Given the description of an element on the screen output the (x, y) to click on. 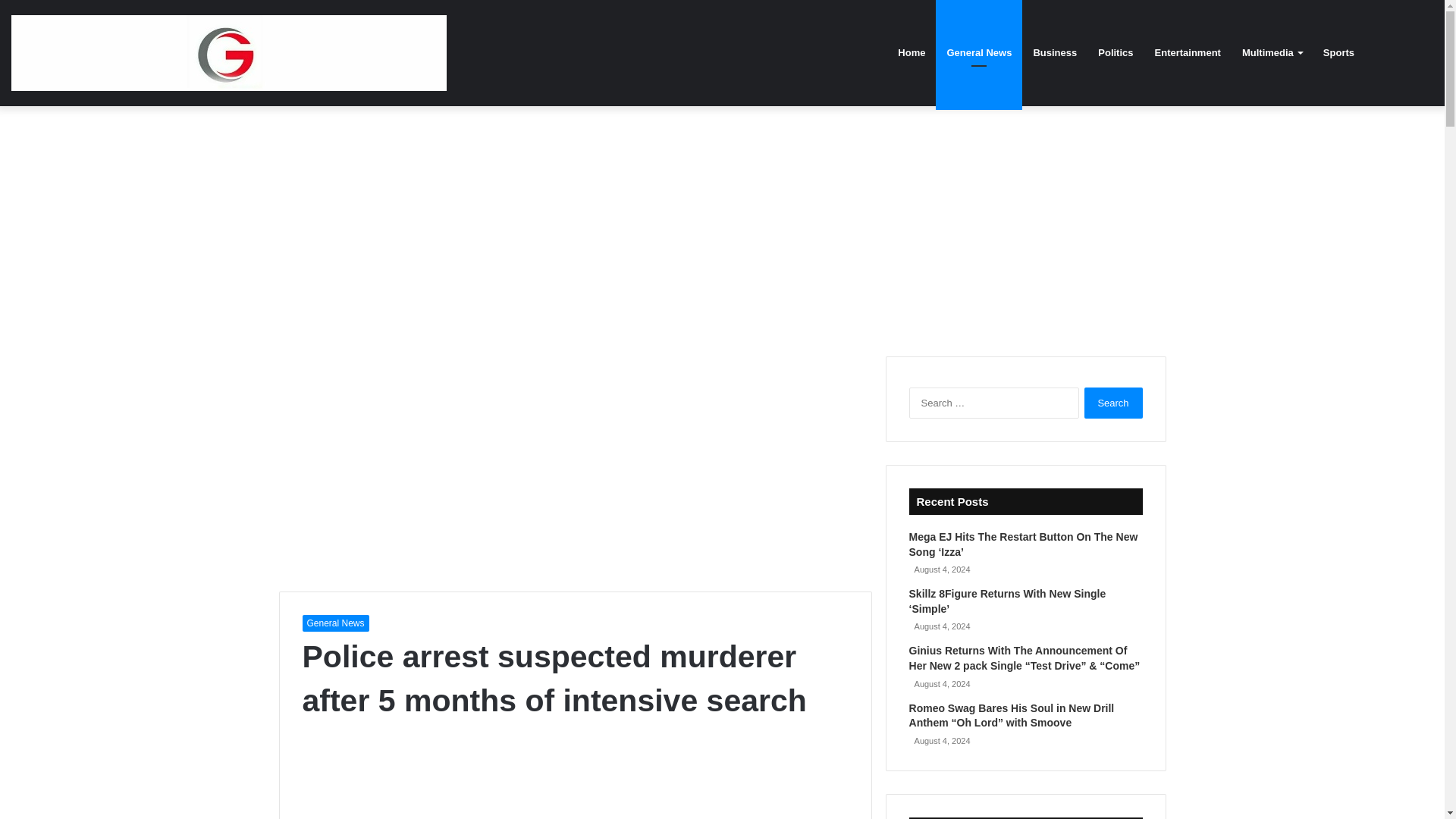
Clickongh (228, 52)
General News (334, 623)
Search (1113, 402)
Search (1113, 402)
